Given the description of an element on the screen output the (x, y) to click on. 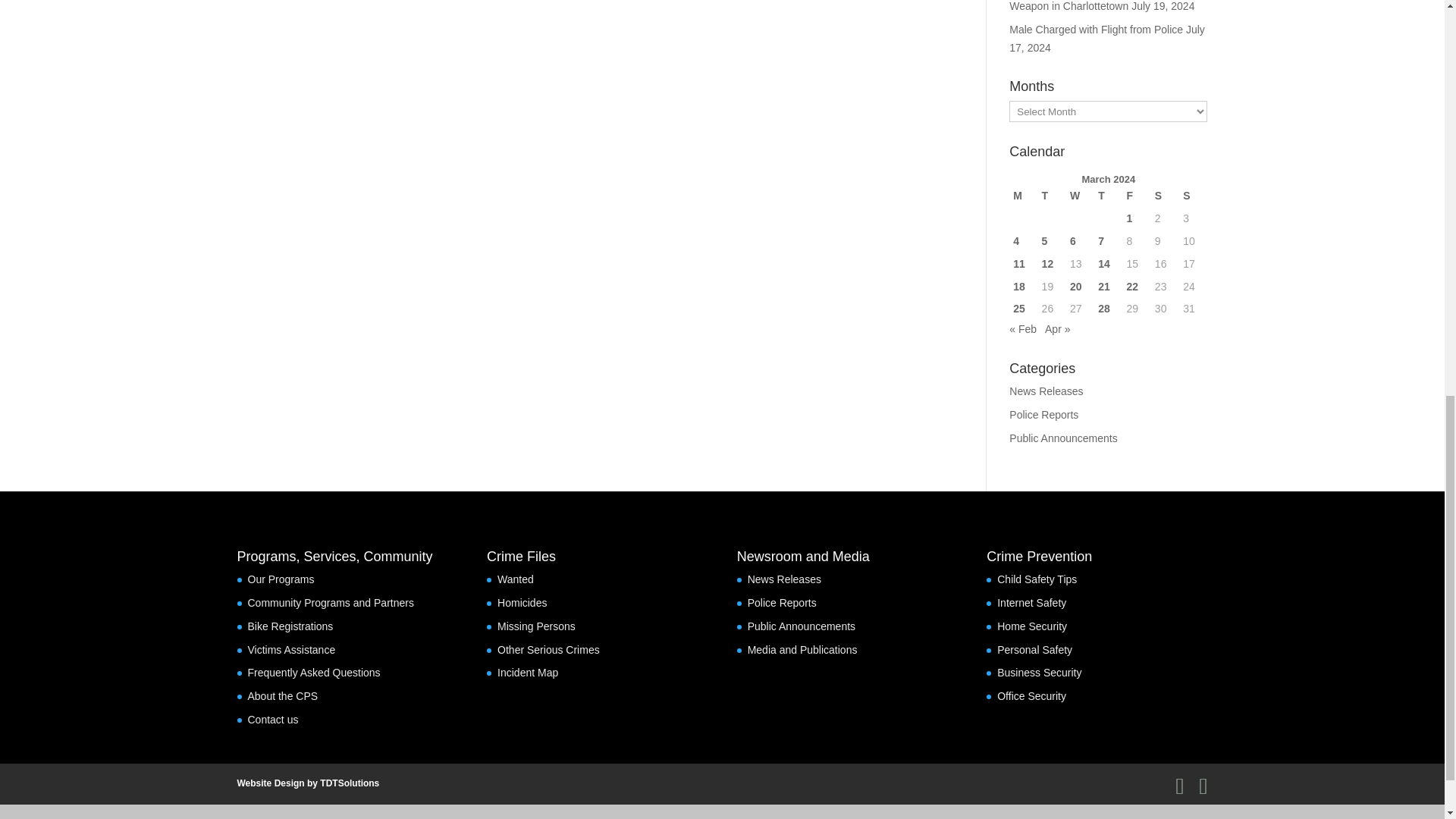
Monday (1022, 196)
Sunday (1193, 196)
Wednesday (1079, 196)
Saturday (1165, 196)
Friday (1136, 196)
Thursday (1108, 196)
Tuesday (1051, 196)
